Given the description of an element on the screen output the (x, y) to click on. 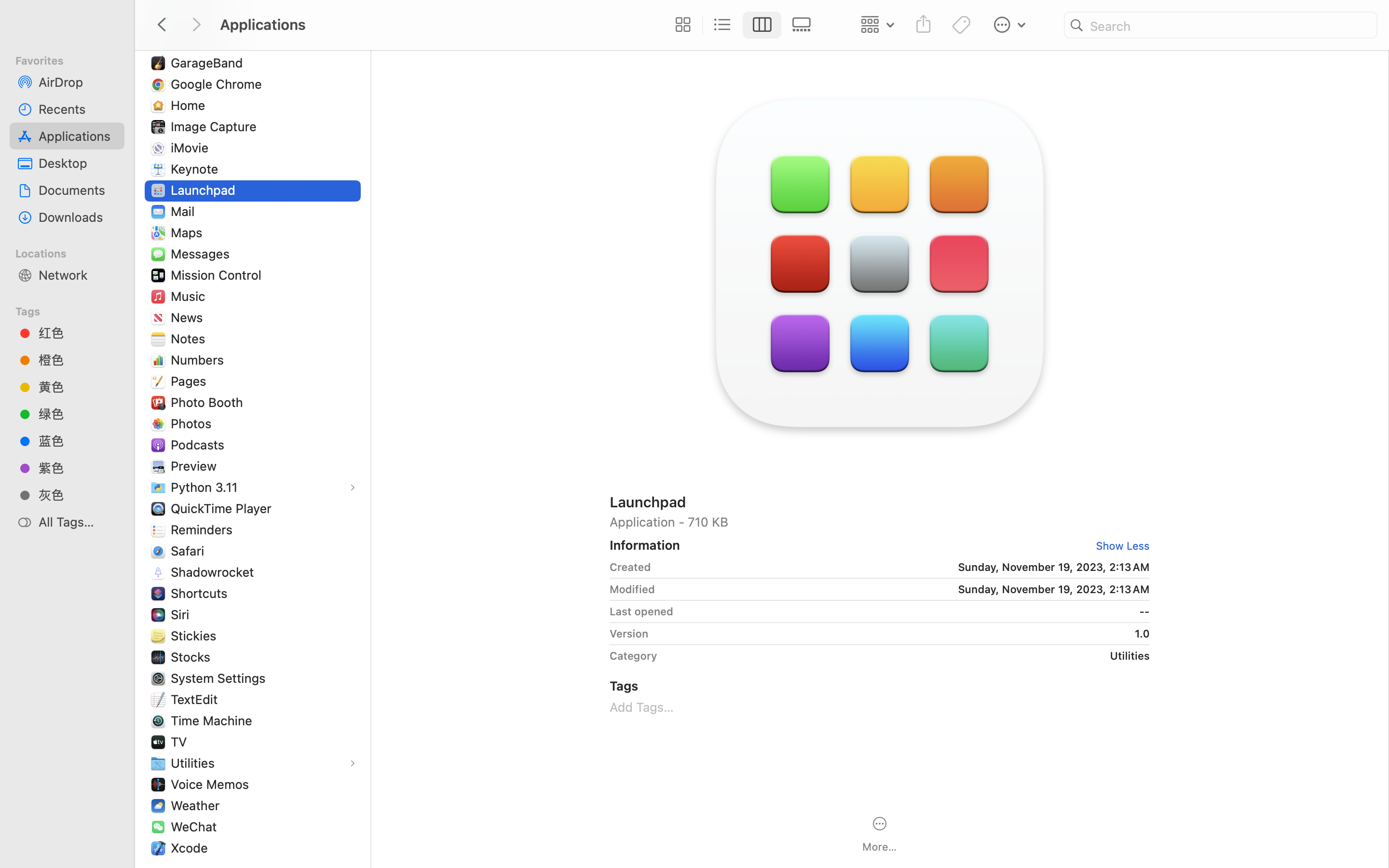
Desktop Element type: AXStaticText (77, 162)
Home Element type: AXTextField (189, 104)
Weather Element type: AXTextField (196, 805)
<AXUIElement 0x11f9c0240> {pid=510} Element type: AXRadioGroup (741, 24)
Launchpad Element type: AXTextField (205, 189)
